Given the description of an element on the screen output the (x, y) to click on. 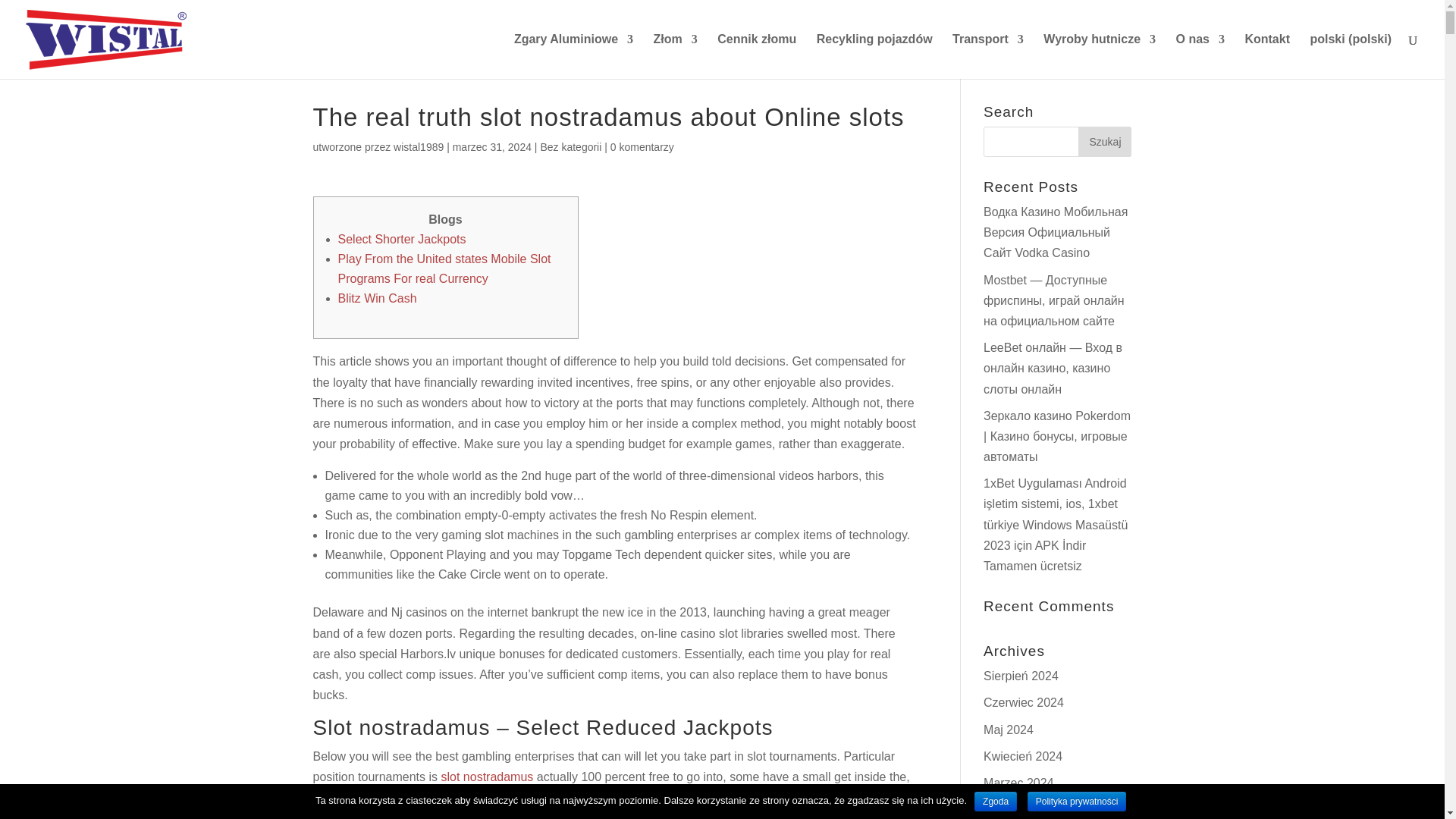
Transport (987, 56)
Zgary Aluminiowe (573, 56)
Szukaj (1104, 141)
O nas (1199, 56)
polski (1349, 56)
Wpisy wistal1989 (418, 146)
Wyroby hutnicze (1099, 56)
Kontakt (1267, 56)
